Given the description of an element on the screen output the (x, y) to click on. 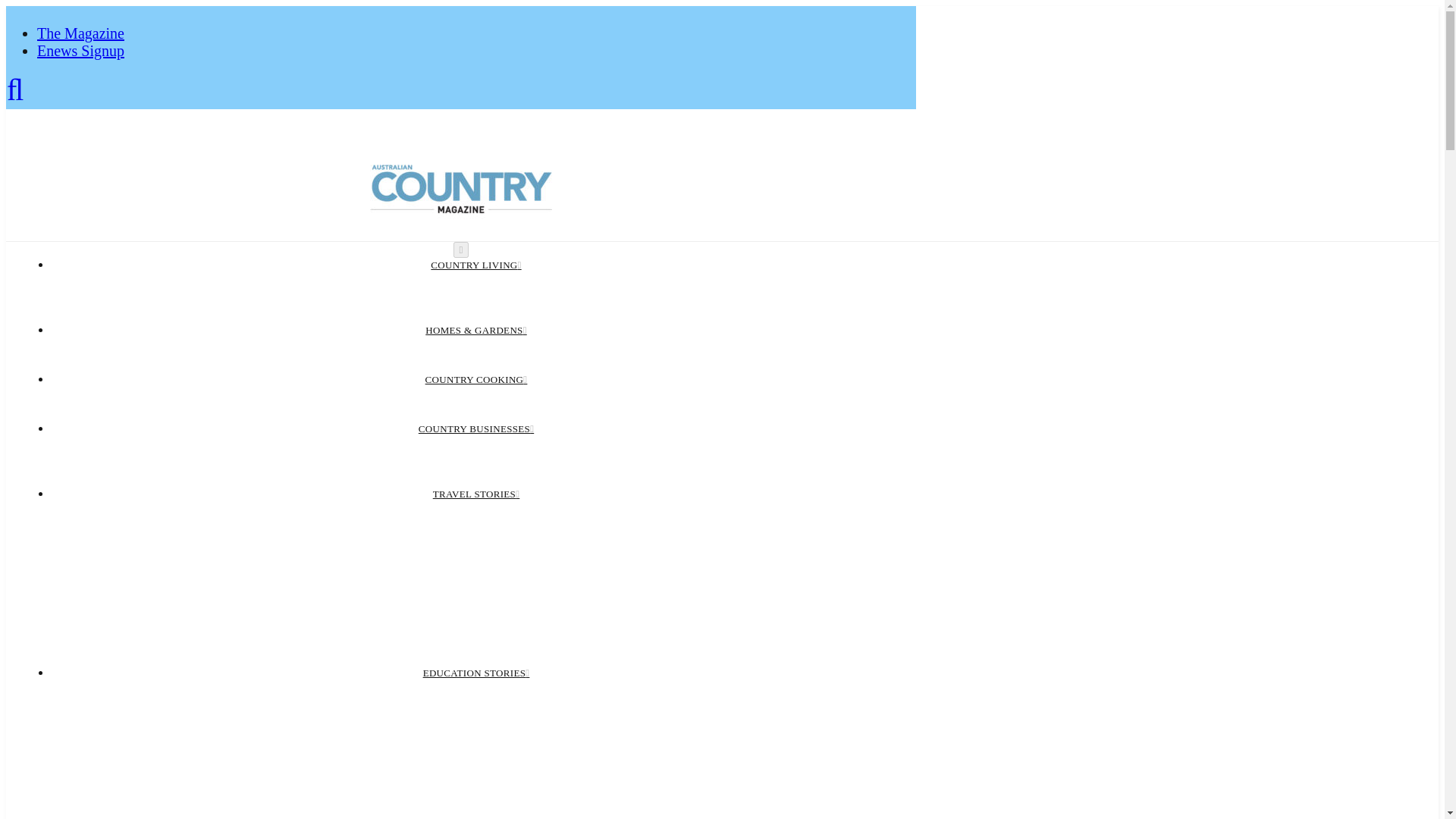
COUNTRY LIVING (475, 265)
Enews Signup (80, 50)
TRAVEL STORIES (475, 493)
Search (15, 94)
EDUCATION STORIES (476, 672)
The Magazine (80, 33)
COUNTRY COOKING (476, 378)
COUNTRY BUSINESSES (476, 428)
